Given the description of an element on the screen output the (x, y) to click on. 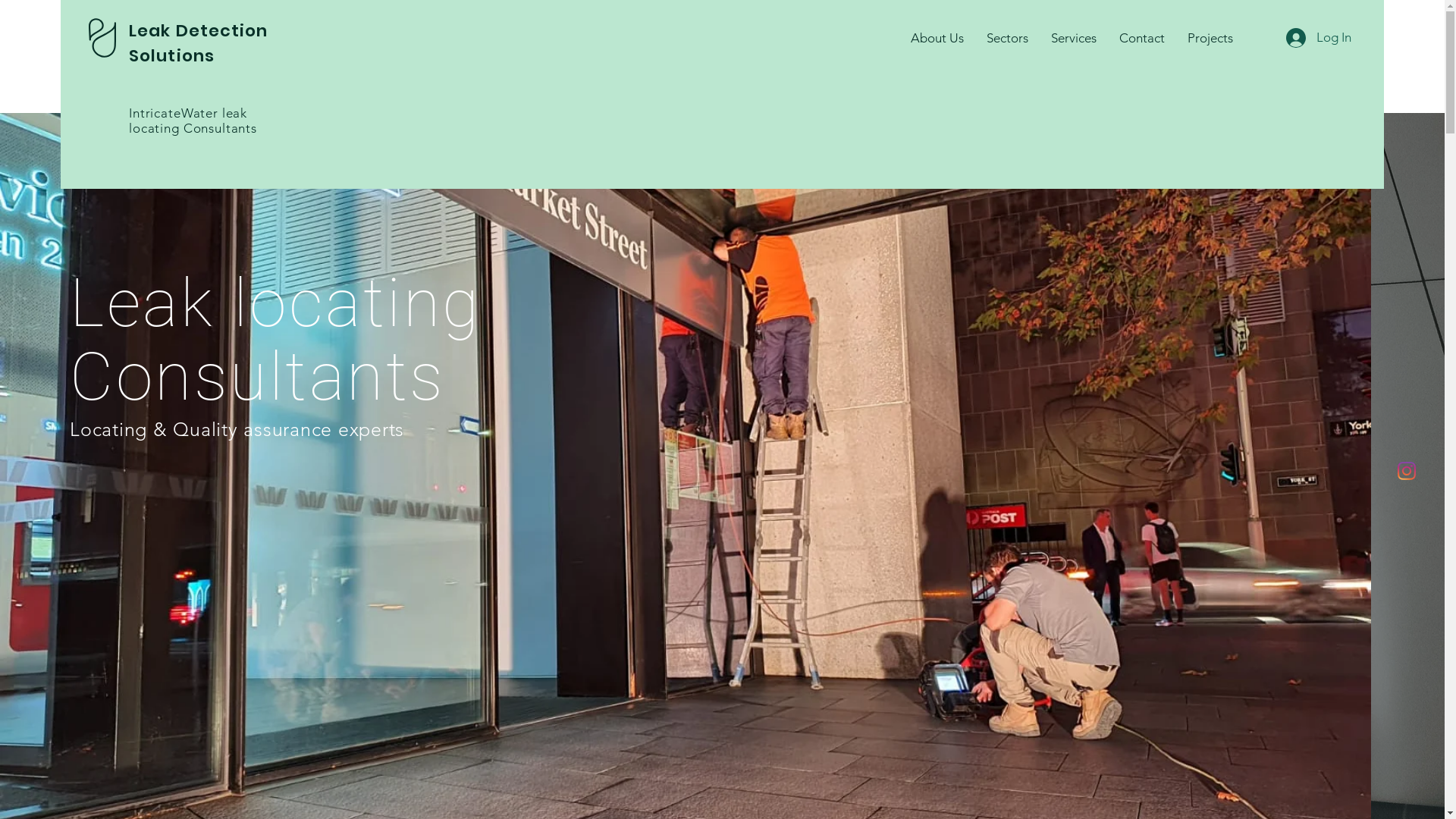
Log In Element type: text (1318, 37)
Services Element type: text (1072, 37)
IntricateWater leak locating Consultants Element type: text (192, 120)
Projects Element type: text (1209, 37)
Sectors Element type: text (1007, 37)
About Us Element type: text (937, 37)
Contact Element type: text (1141, 37)
Leak Detection Solutions Element type: text (197, 42)
